Given the description of an element on the screen output the (x, y) to click on. 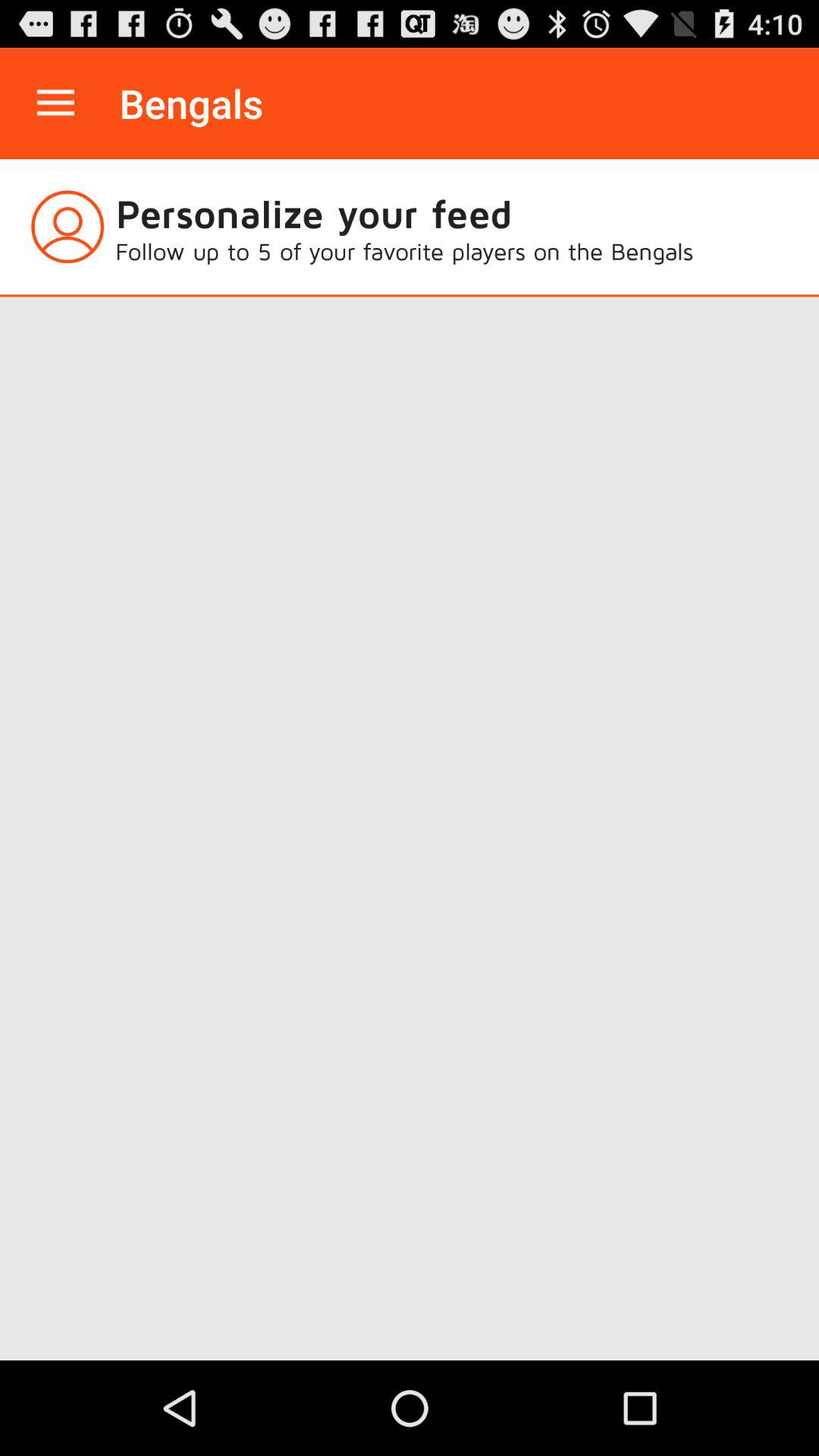
option menu (55, 103)
